Given the description of an element on the screen output the (x, y) to click on. 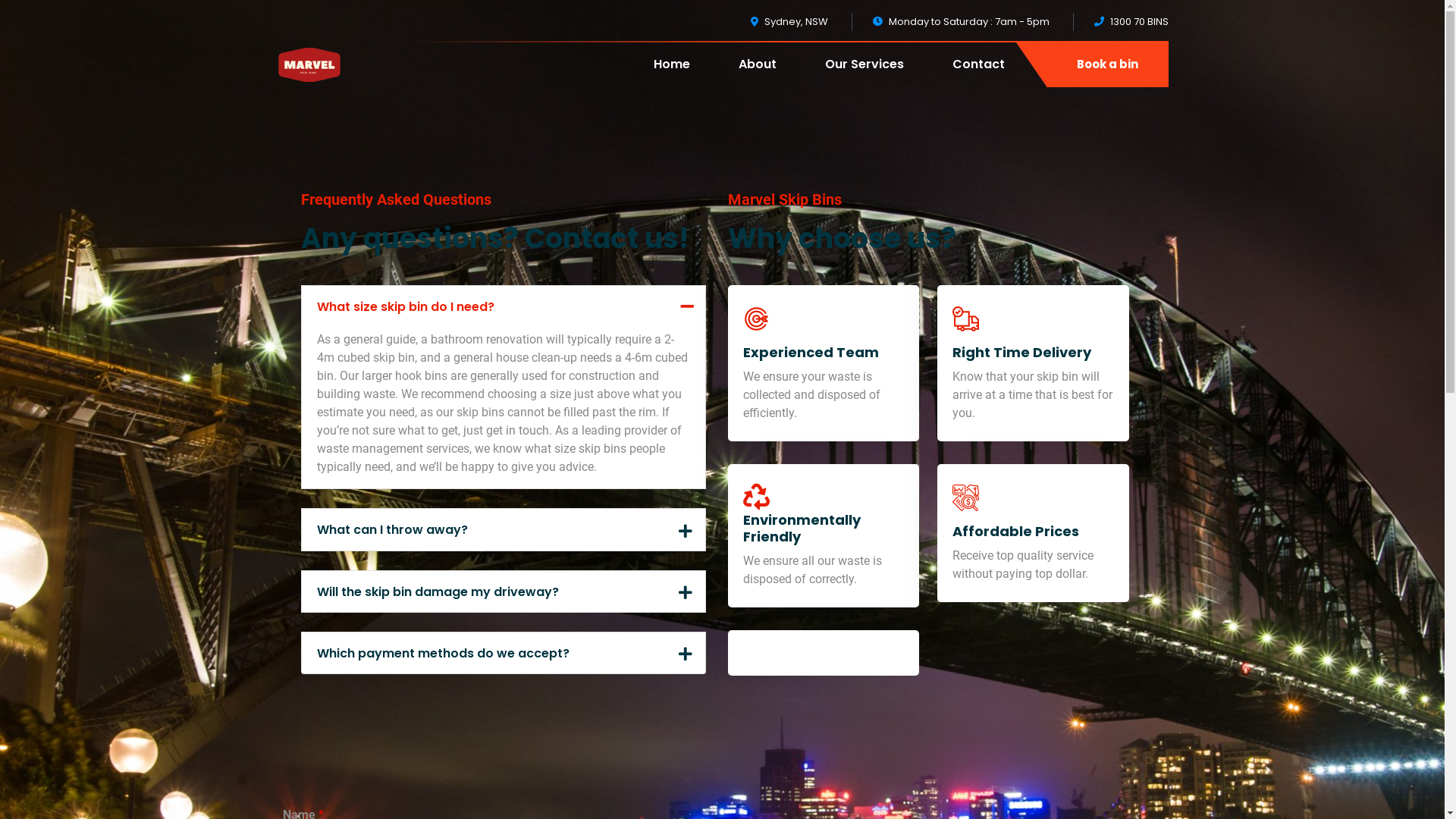
Contact Element type: text (978, 75)
What size skip bin do I need? Element type: text (503, 305)
About Element type: text (757, 75)
Which payment methods do we accept? Element type: text (503, 652)
Our Services Element type: text (864, 75)
Home Element type: text (671, 75)
Will the skip bin damage my driveway? Element type: text (503, 591)
What can I throw away? Element type: text (503, 528)
Marvel Skip Bins AU Element type: hover (308, 63)
Book a bin Element type: text (1107, 64)
